Given the description of an element on the screen output the (x, y) to click on. 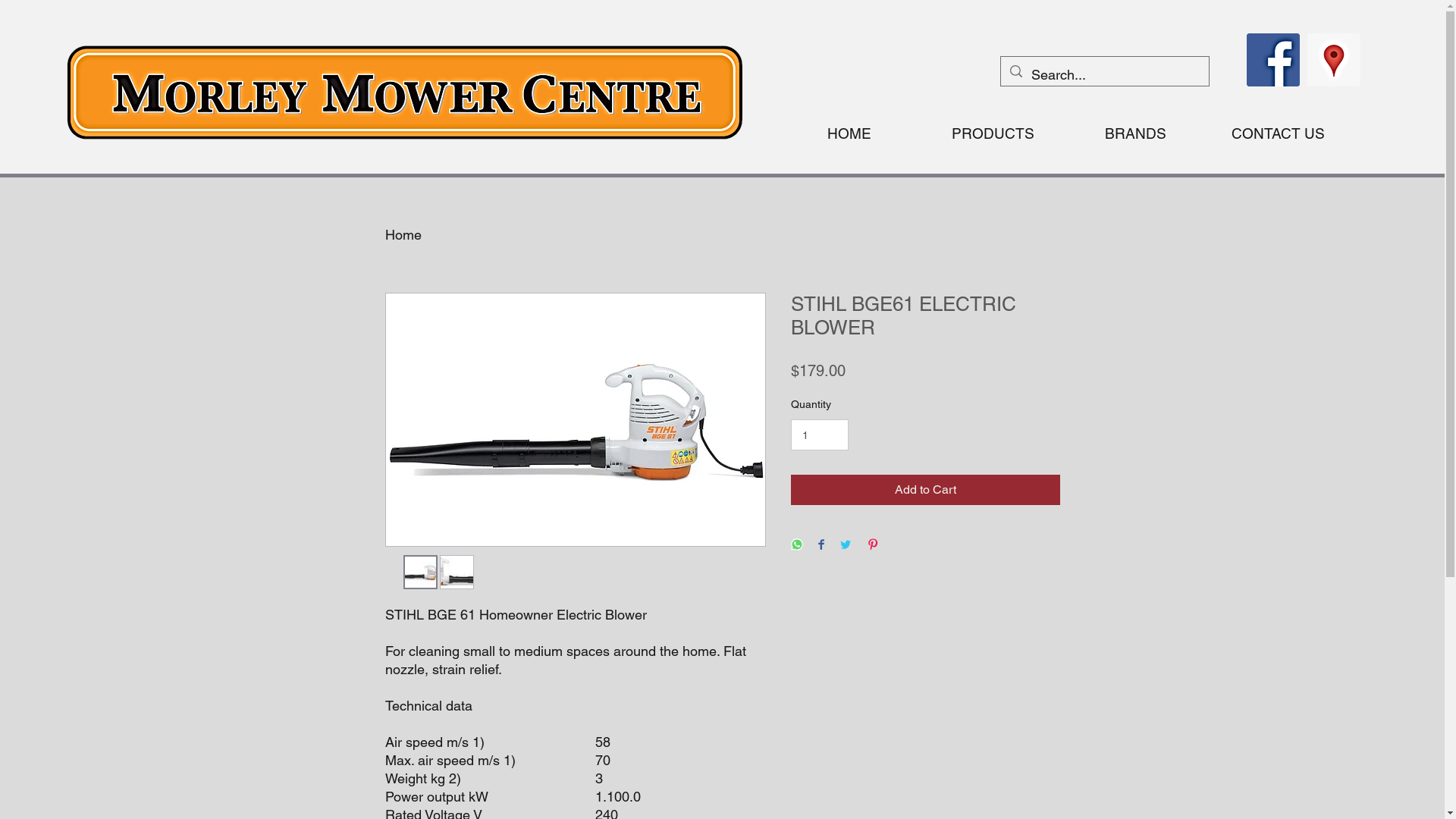
PRODUCTS Element type: text (991, 133)
Add to Cart Element type: text (924, 489)
HOME Element type: text (849, 133)
hi res logo no border_edited.png Element type: hover (402, 96)
CONTACT US Element type: text (1278, 133)
BRANDS Element type: text (1135, 133)
Home Element type: text (403, 234)
